Given the description of an element on the screen output the (x, y) to click on. 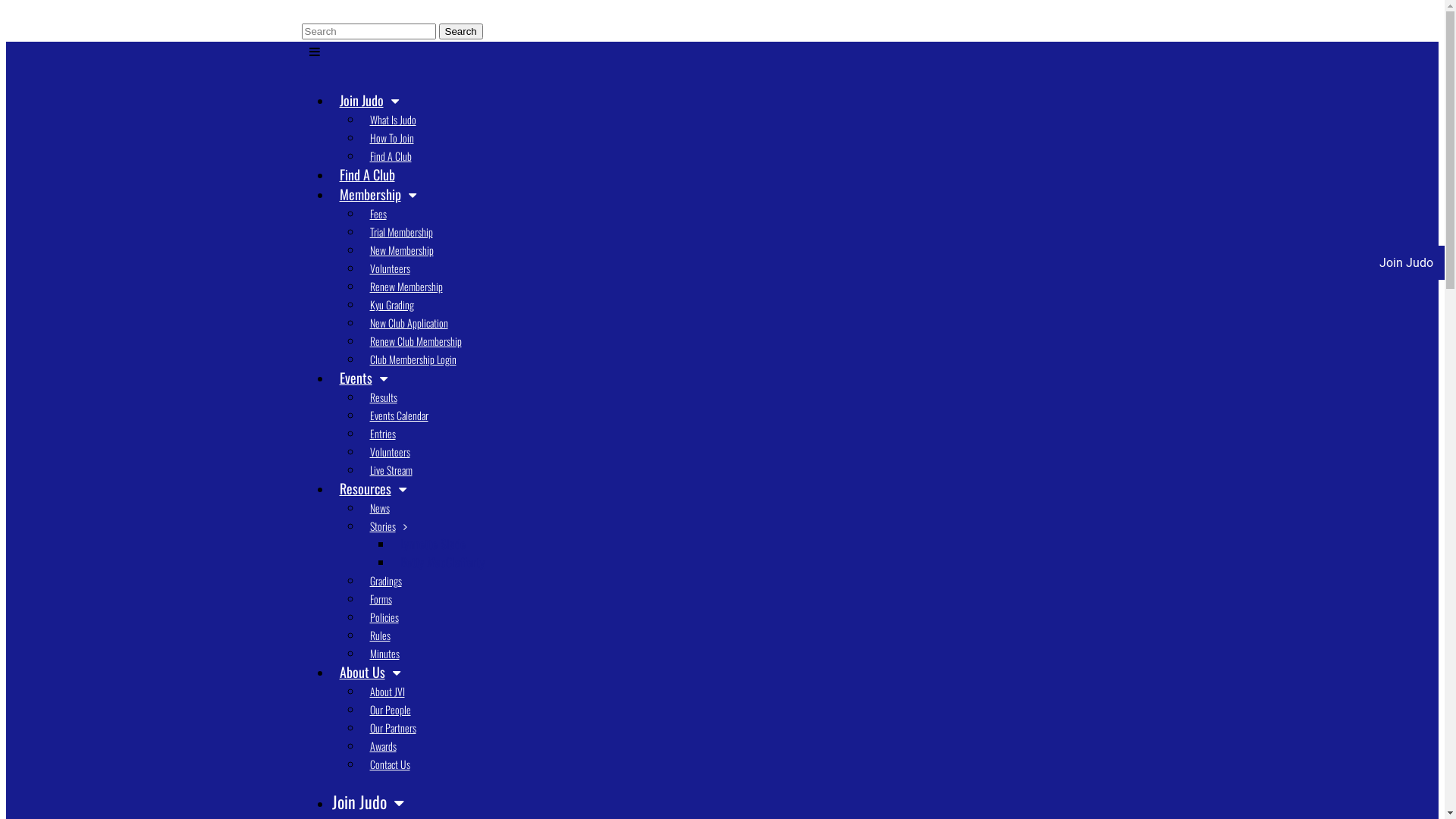
Rules Element type: text (376, 635)
Find A Club Element type: text (363, 174)
New Club Application Element type: text (405, 322)
Results Element type: text (379, 396)
Betty MacClafferty Element type: text (438, 561)
Awards Element type: text (379, 745)
Events Calendar Element type: text (395, 415)
Lynnette Slade Element type: text (428, 543)
Renew Club Membership Element type: text (411, 340)
Membership Element type: text (374, 193)
Renew Membership Element type: text (402, 286)
Find A Club Element type: text (386, 155)
New Membership Element type: text (397, 249)
Entries Element type: text (378, 433)
Gradings Element type: text (381, 580)
Minutes Element type: text (380, 653)
How To Join Element type: text (388, 137)
Live Stream Element type: text (387, 469)
Club Membership Login Element type: text (409, 359)
Volunteers Element type: text (386, 268)
Volunteers Element type: text (386, 451)
News Element type: text (375, 507)
Our People Element type: text (386, 709)
Trial Membership Element type: text (397, 231)
Kyu Grading Element type: text (388, 304)
Join Judo Element type: text (1391, 262)
Stories Element type: text (384, 525)
What Is Judo Element type: text (389, 119)
Policies Element type: text (380, 616)
Resources Element type: text (369, 488)
Fees Element type: text (374, 213)
Our Partners Element type: text (389, 727)
Contact Us Element type: text (386, 763)
Forms Element type: text (377, 598)
About JVI Element type: text (383, 691)
Search Element type: text (460, 31)
About Us Element type: text (366, 671)
Events Element type: text (359, 377)
Join Judo Element type: text (365, 99)
